Given the description of an element on the screen output the (x, y) to click on. 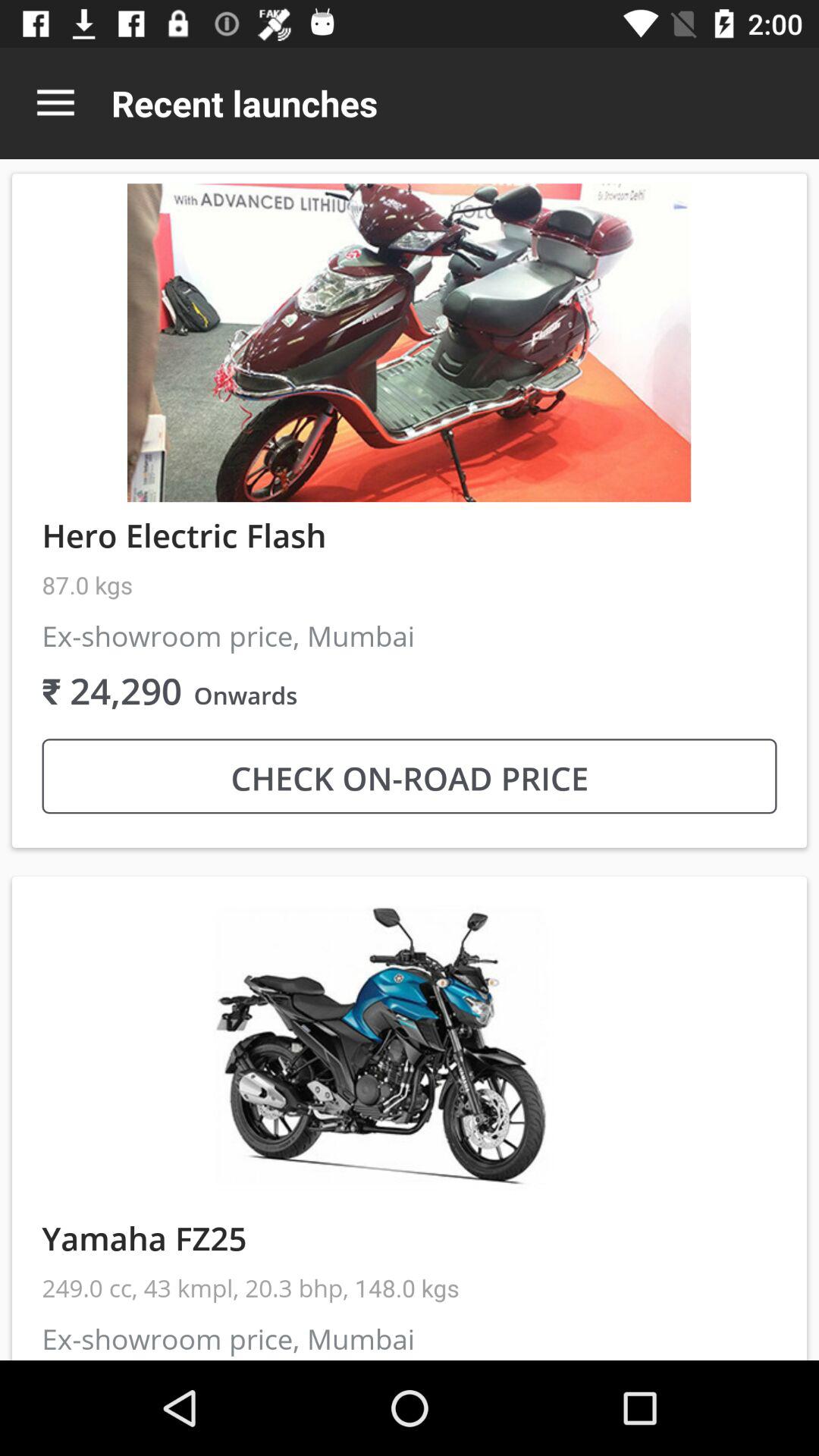
choose the item above the hero electric flash (55, 103)
